Given the description of an element on the screen output the (x, y) to click on. 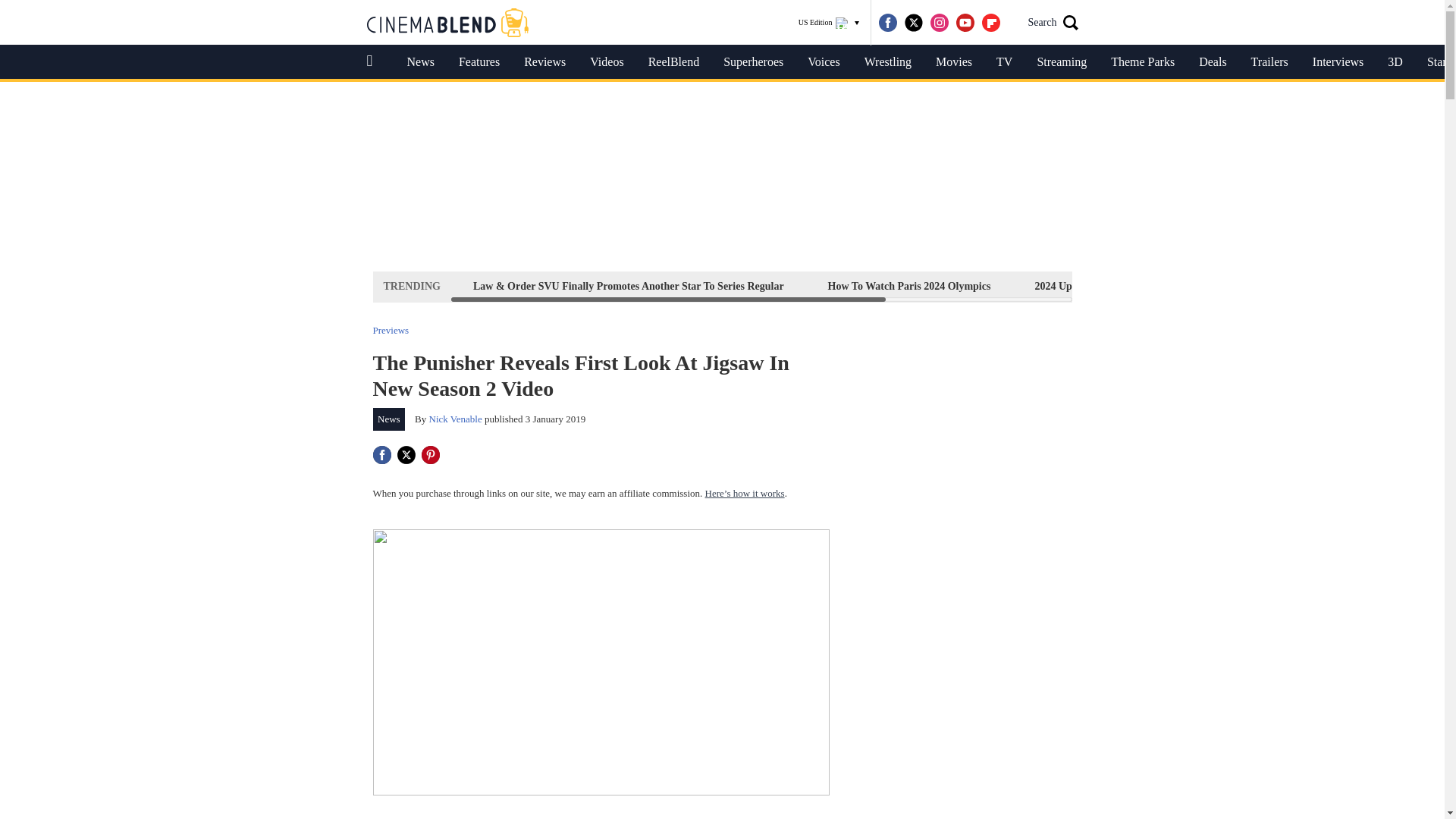
News (389, 418)
2024 Upcoming Movies (1086, 286)
Trailers (1269, 61)
How To Watch Paris 2024 Olympics (908, 286)
3D (1395, 61)
Theme Parks (1142, 61)
Features (479, 61)
Movies (953, 61)
ReelBlend (673, 61)
Streaming (1062, 61)
US Edition (828, 22)
Videos (606, 61)
Previews (390, 329)
Superheroes (752, 61)
100 Best Sitcoms Of All Time (1250, 286)
